Given the description of an element on the screen output the (x, y) to click on. 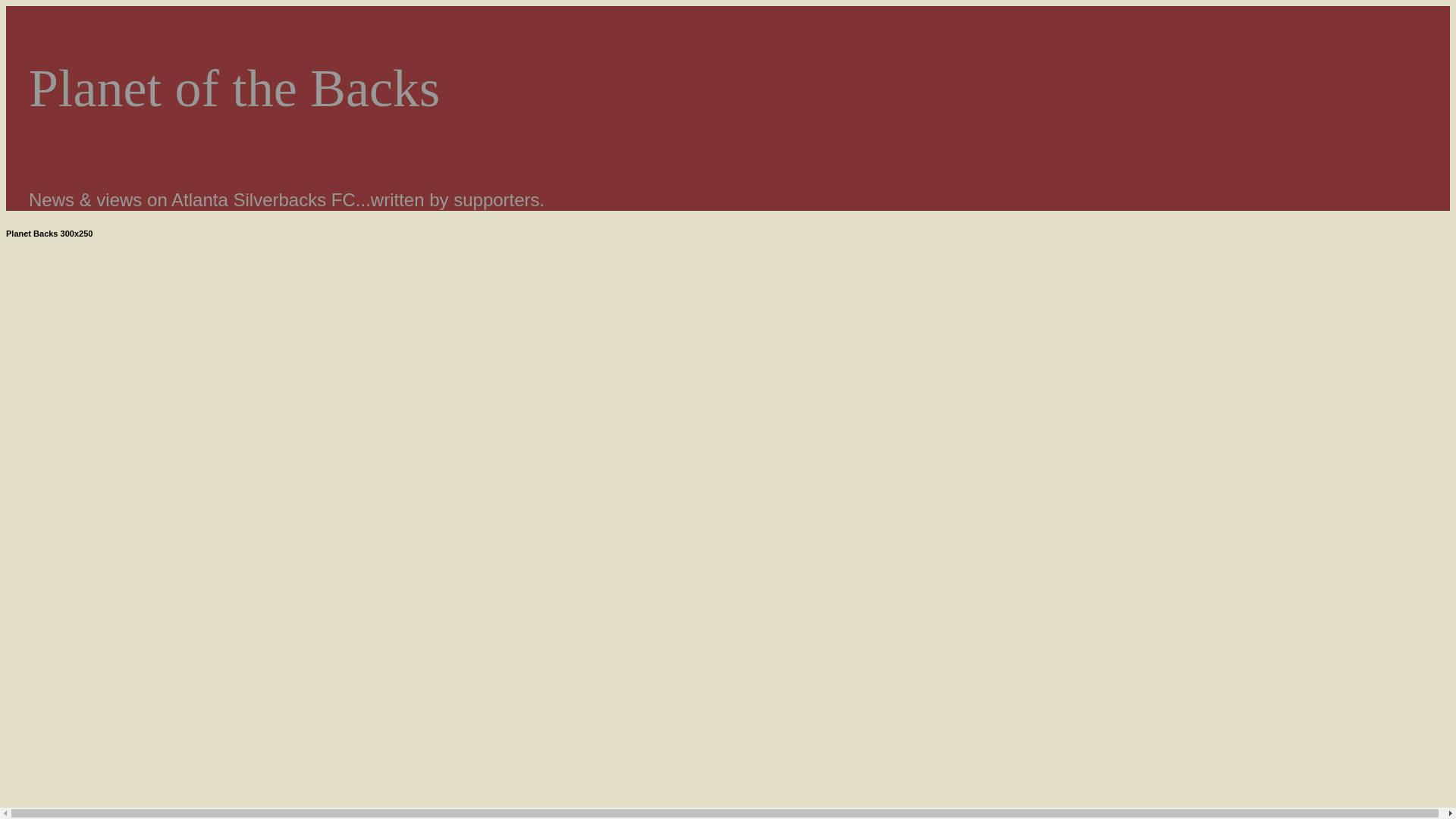
Planet of the Backs (234, 87)
